Given the description of an element on the screen output the (x, y) to click on. 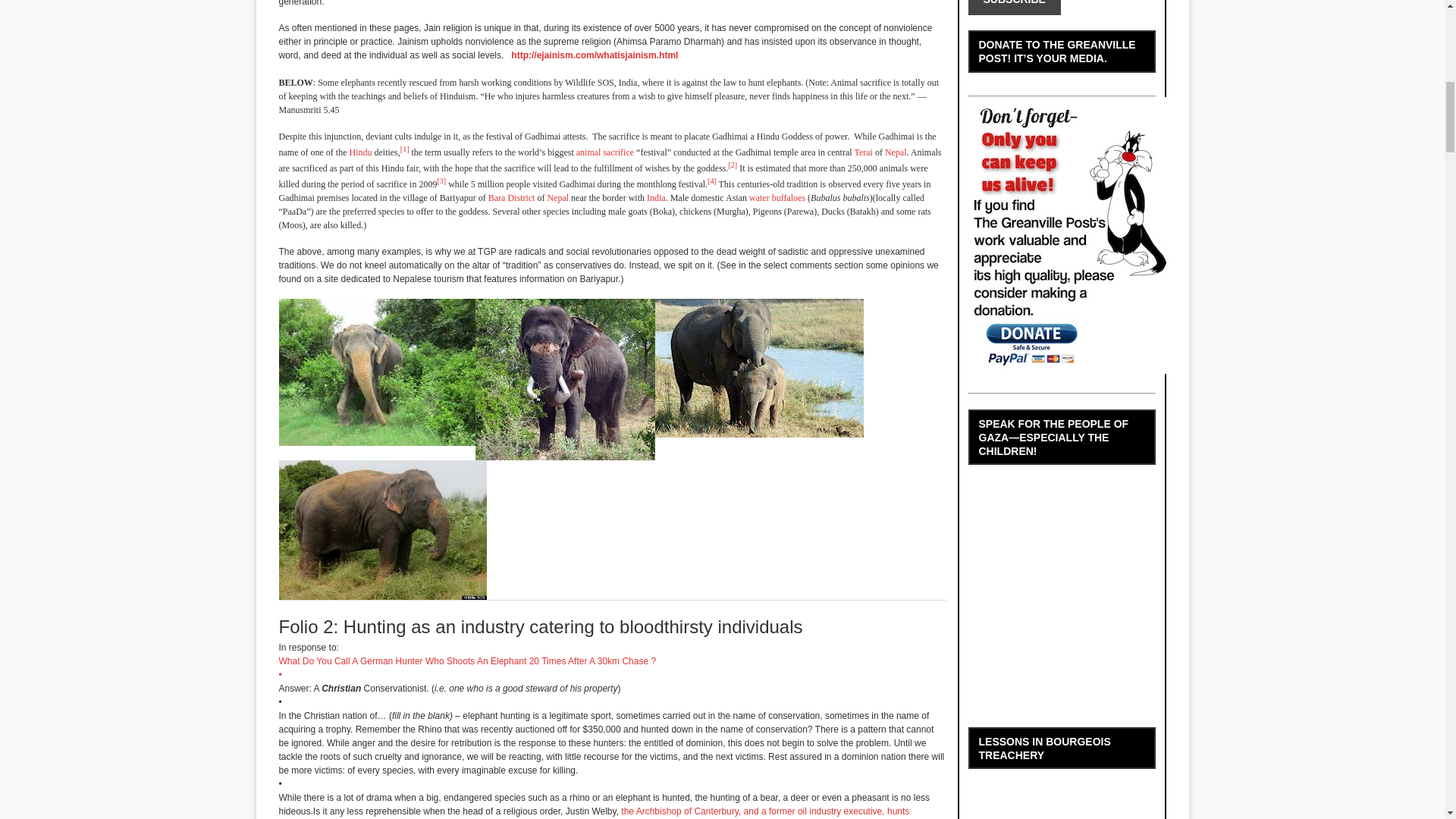
Terai (862, 152)
Subscribe (1013, 7)
Nepal (896, 152)
Nepal (558, 197)
Animal sacrifice (604, 152)
Bara District (511, 197)
Hinduism (360, 152)
Water buffalo (777, 197)
India (655, 197)
